Given the description of an element on the screen output the (x, y) to click on. 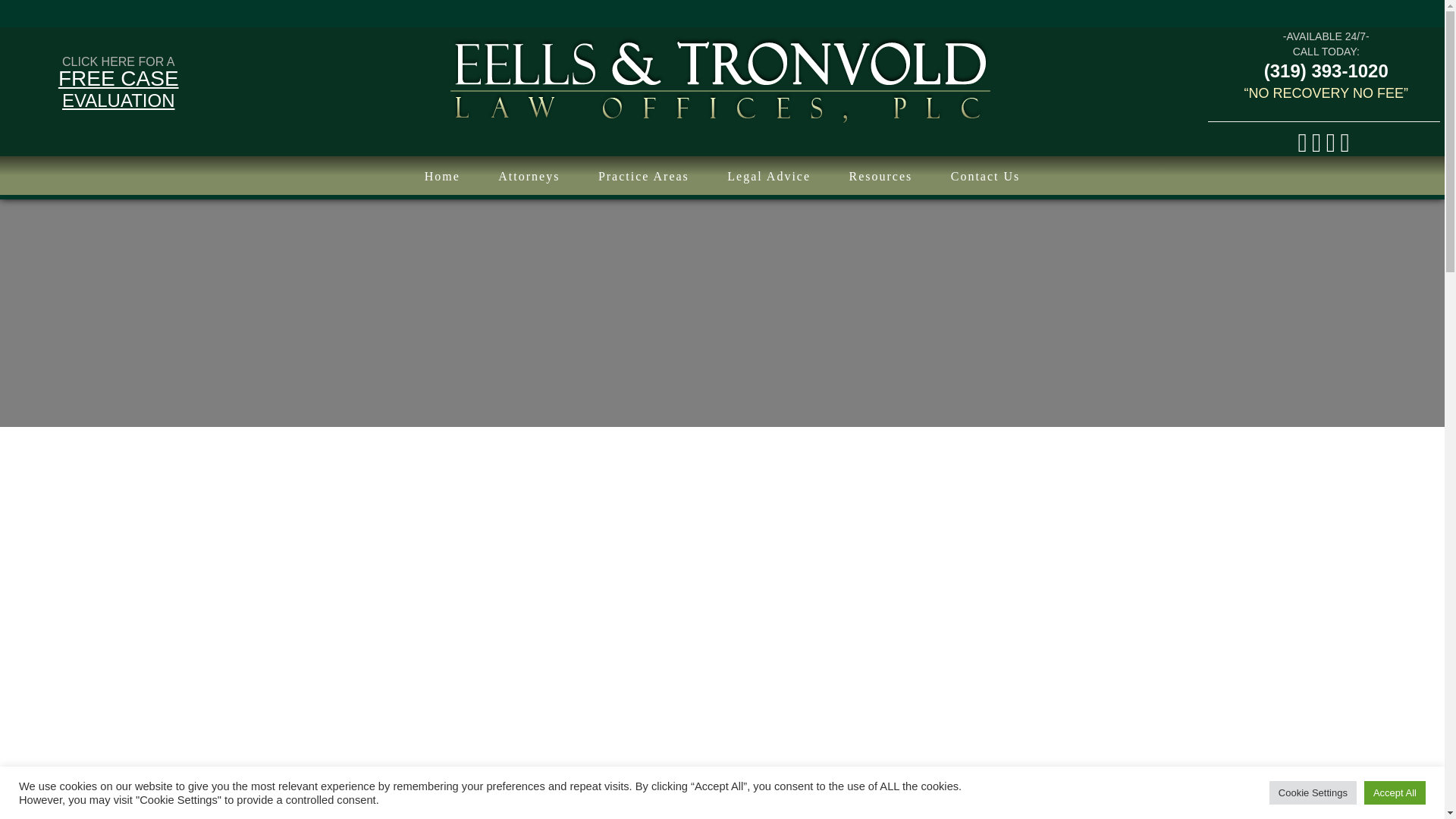
Home (442, 176)
Legal Advice (768, 176)
Practice Areas (643, 176)
Attorneys (529, 176)
Resources (879, 176)
